Given the description of an element on the screen output the (x, y) to click on. 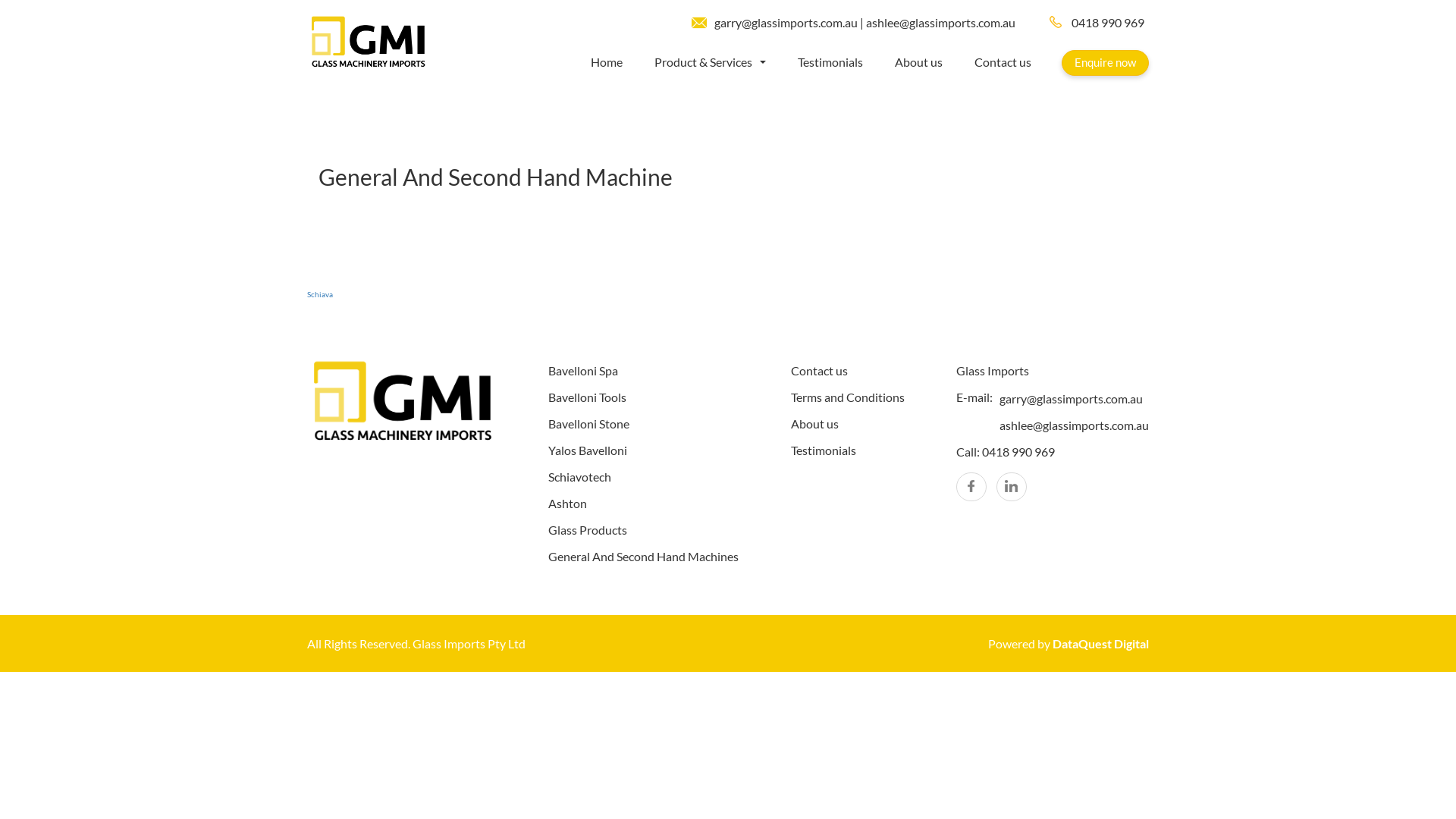
Contact us Element type: text (1017, 61)
Schiava Element type: text (319, 293)
Bavelloni Spa Element type: text (583, 370)
About us Element type: text (814, 423)
0418 990 969   Element type: text (1020, 451)
Product & Services Element type: text (725, 62)
DataQuest Digital Element type: text (1100, 643)
garry@glassimports.com.au Element type: text (1070, 398)
Testimonials Element type: text (845, 61)
Glass Products Element type: text (587, 529)
Enquire now Element type: text (1104, 62)
garry@glassimports.com.au | ashlee@glassimports.com.au Element type: text (864, 22)
Home Element type: text (621, 61)
Bavelloni Stone Element type: text (588, 423)
General And Second Hand Machines Element type: text (643, 556)
ashlee@glassimports.com.au Element type: text (1073, 424)
Schiavotech Element type: text (579, 476)
Ashton Element type: text (567, 502)
Yalos Bavelloni Element type: text (587, 449)
Contact us Element type: text (818, 370)
0418 990 969   Element type: text (1098, 23)
Bavelloni Tools Element type: text (587, 396)
Testimonials Element type: text (823, 449)
Terms and Conditions Element type: text (847, 396)
About us Element type: text (933, 61)
